Given the description of an element on the screen output the (x, y) to click on. 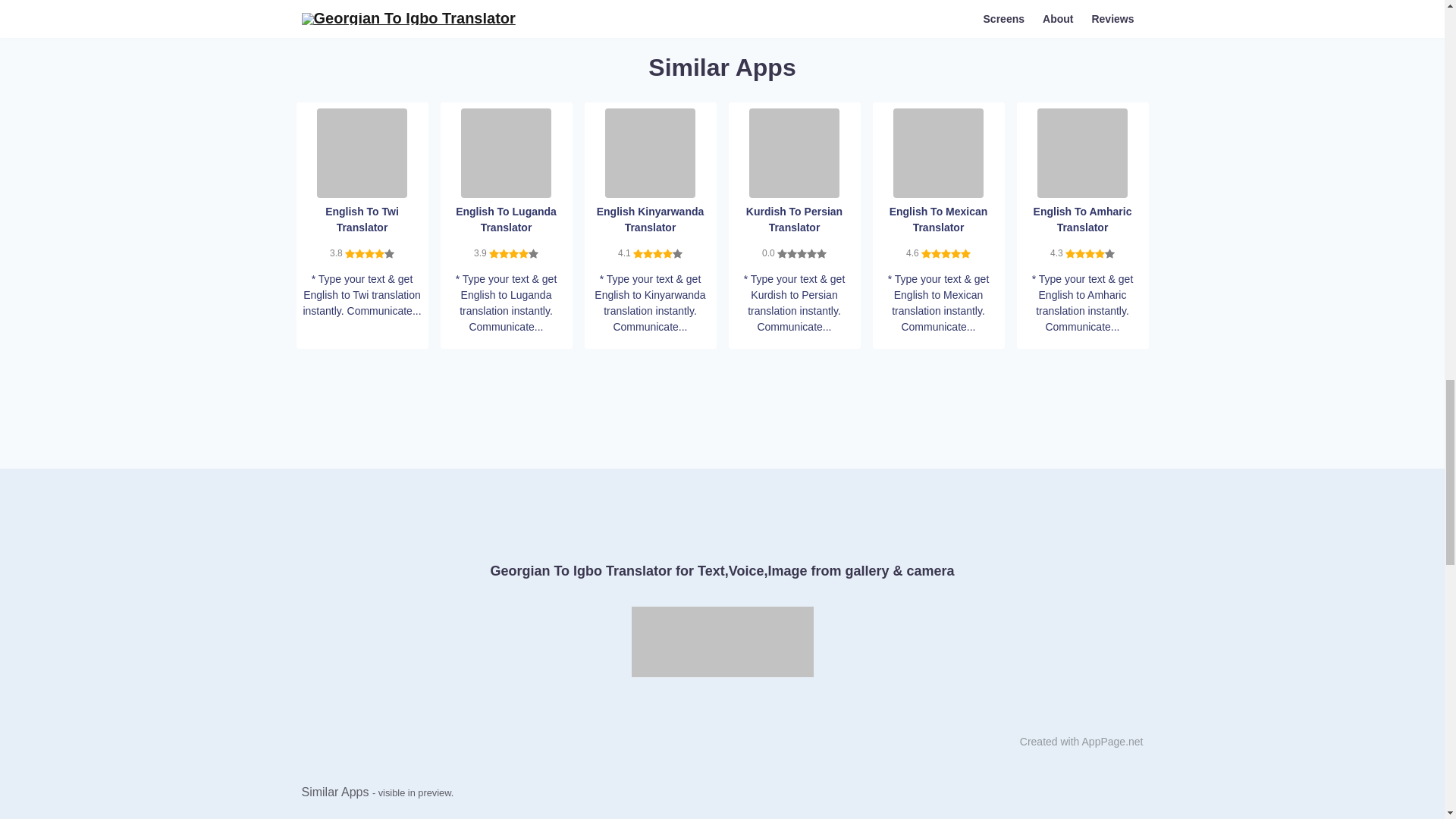
English To Twi Translator (362, 152)
English Kinyarwanda Translator (650, 152)
English To Mexican Translator (938, 152)
English To Luganda Translator (506, 152)
Kurdish To Persian Translator (794, 152)
English To Amharic Translator (1081, 152)
AppPage.net (1111, 741)
